Given the description of an element on the screen output the (x, y) to click on. 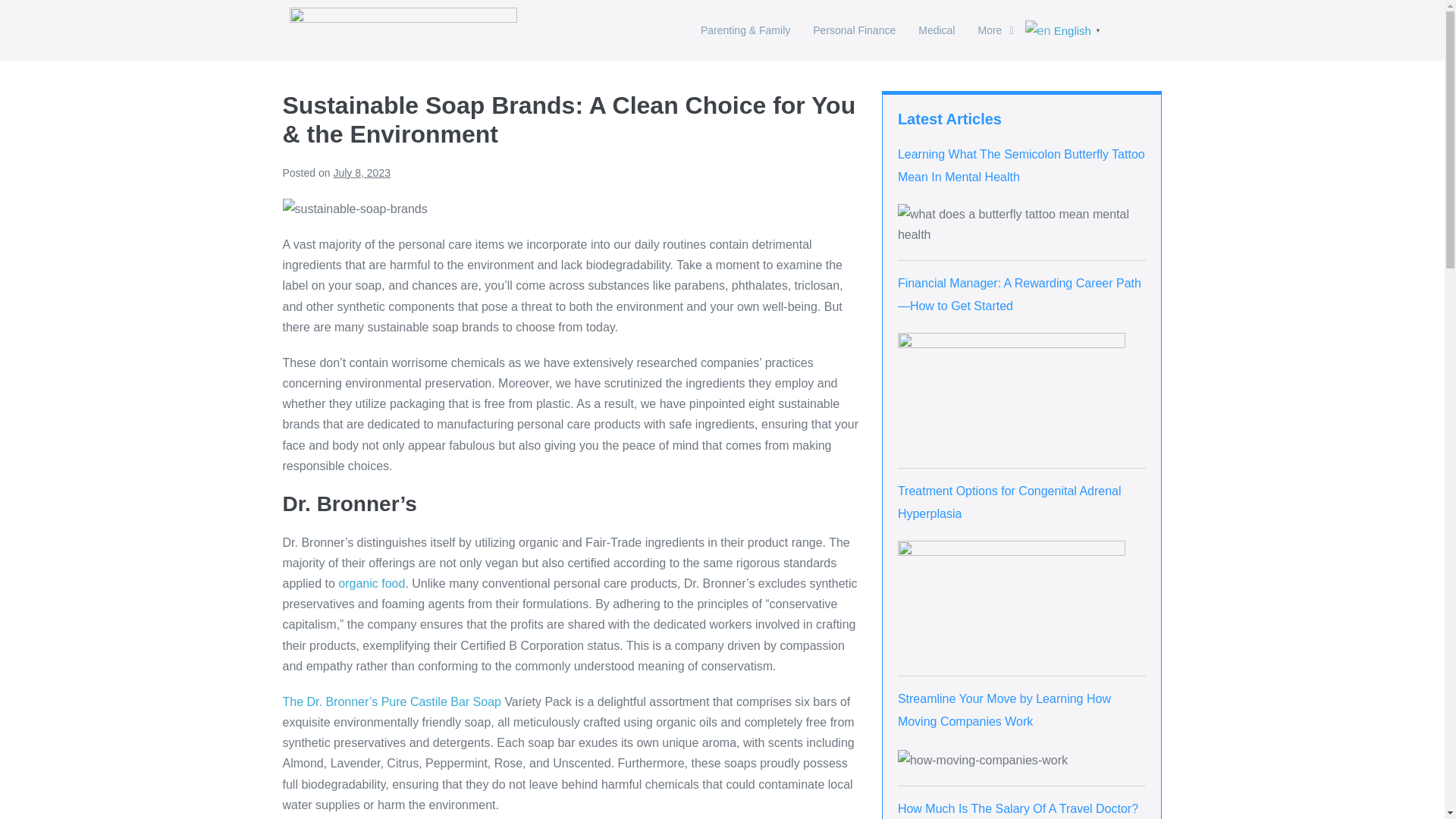
Personal Finance (854, 29)
Medical (936, 29)
More (995, 29)
Search (1137, 29)
